Given the description of an element on the screen output the (x, y) to click on. 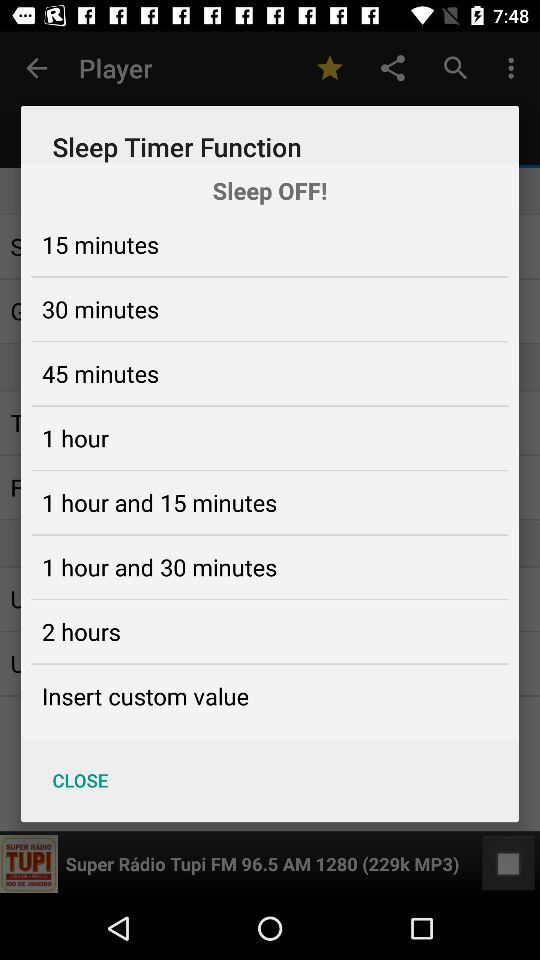
jump to 45 minutes (100, 373)
